Given the description of an element on the screen output the (x, y) to click on. 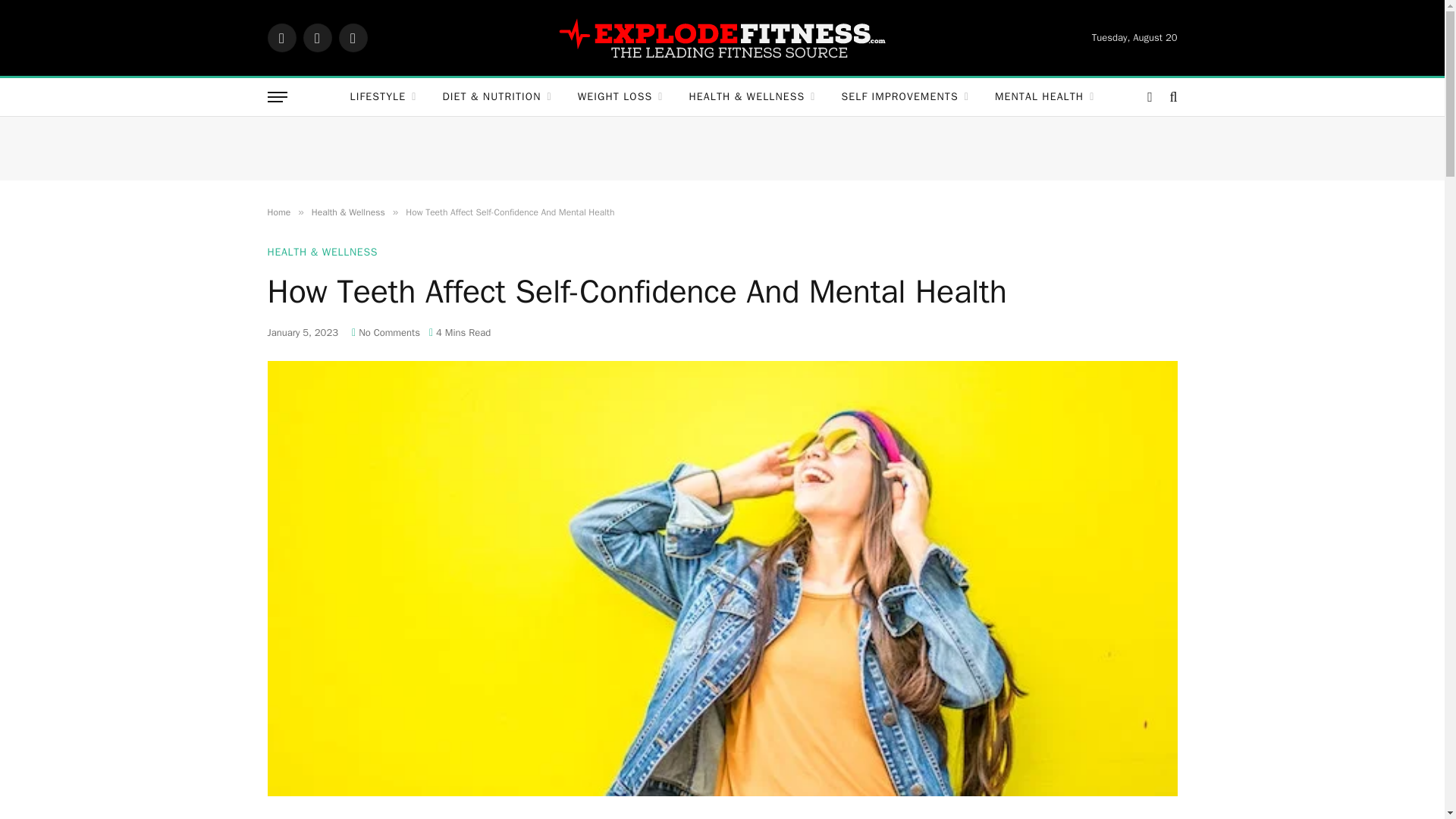
Facebook (280, 37)
Explode Fitness (721, 37)
Instagram (351, 37)
LIFESTYLE (383, 96)
